Given the description of an element on the screen output the (x, y) to click on. 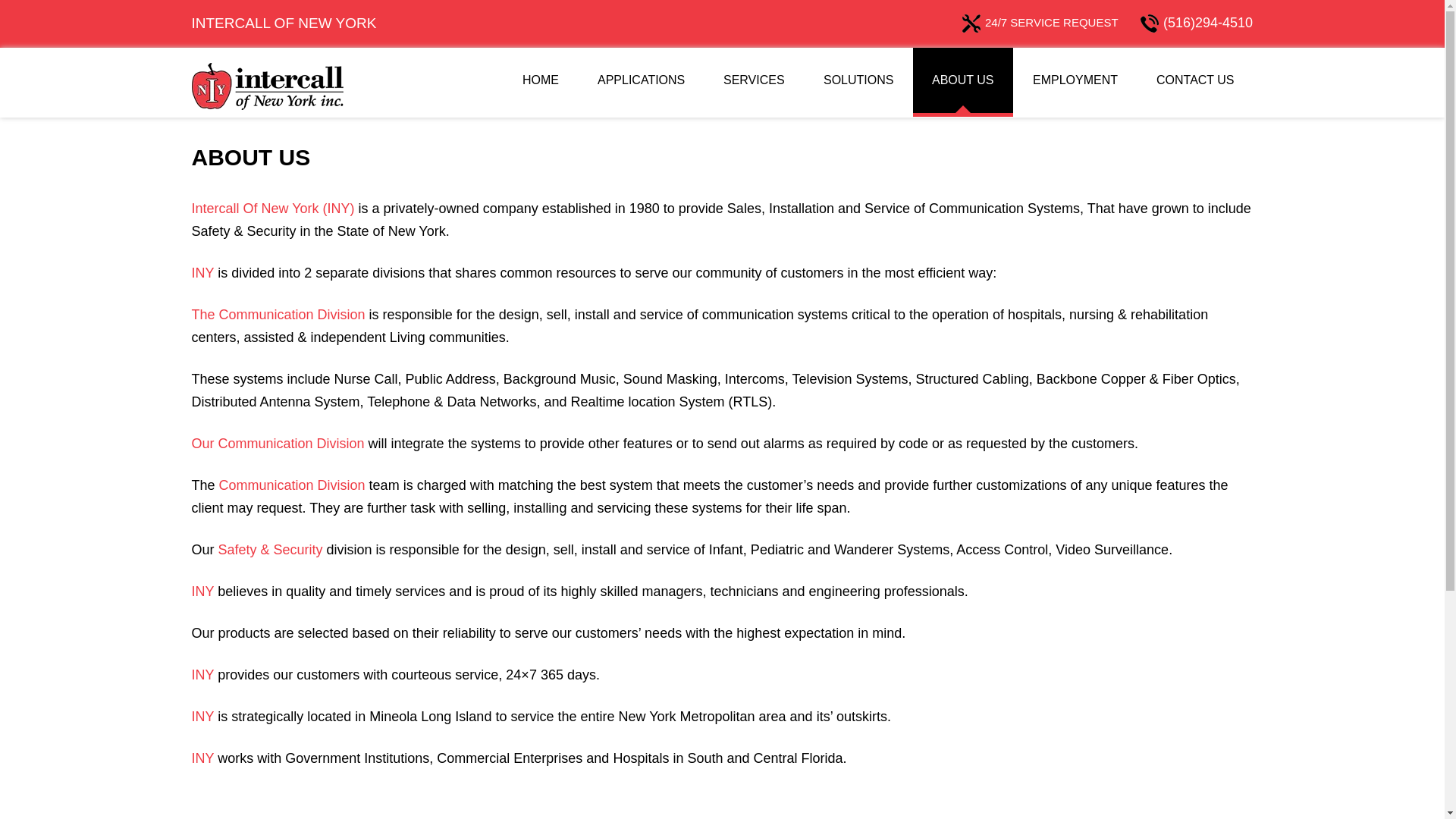
EMPLOYMENT (1075, 81)
HOME (540, 81)
SERVICES (753, 81)
APPLICATIONS (640, 81)
casi (266, 85)
ABOUT US (962, 81)
SOLUTIONS (858, 81)
CONTACT US (1195, 81)
